Given the description of an element on the screen output the (x, y) to click on. 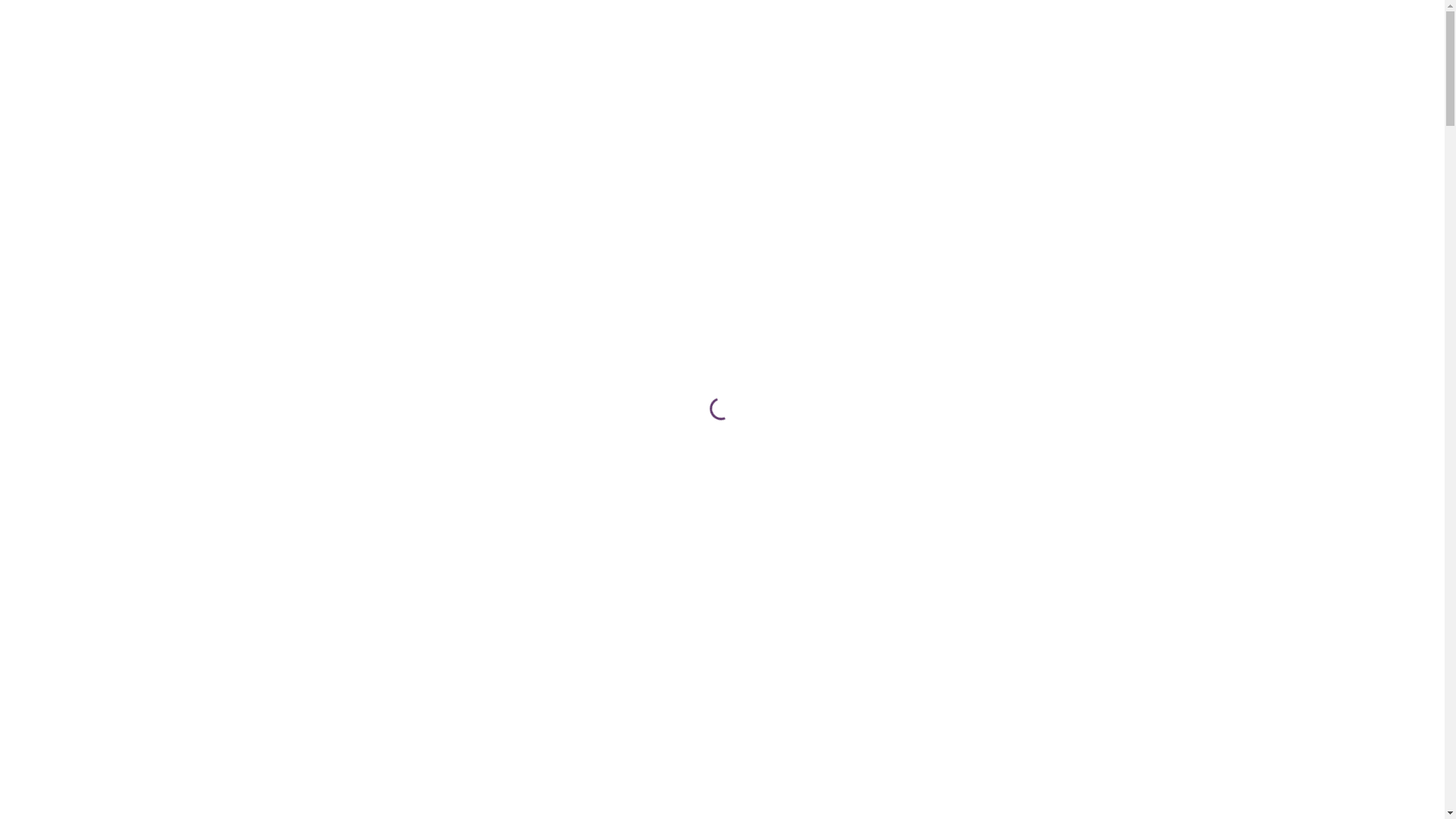
PROJECTS Element type: text (531, 163)
ABOUT Element type: text (250, 163)
View Projects Element type: text (91, 588)
SERVICES Element type: text (430, 163)
CONTACT Element type: text (633, 163)
PROFILE Element type: text (337, 163)
HOME Element type: text (169, 163)
Skip to content Element type: text (0, 0)
